Given the description of an element on the screen output the (x, y) to click on. 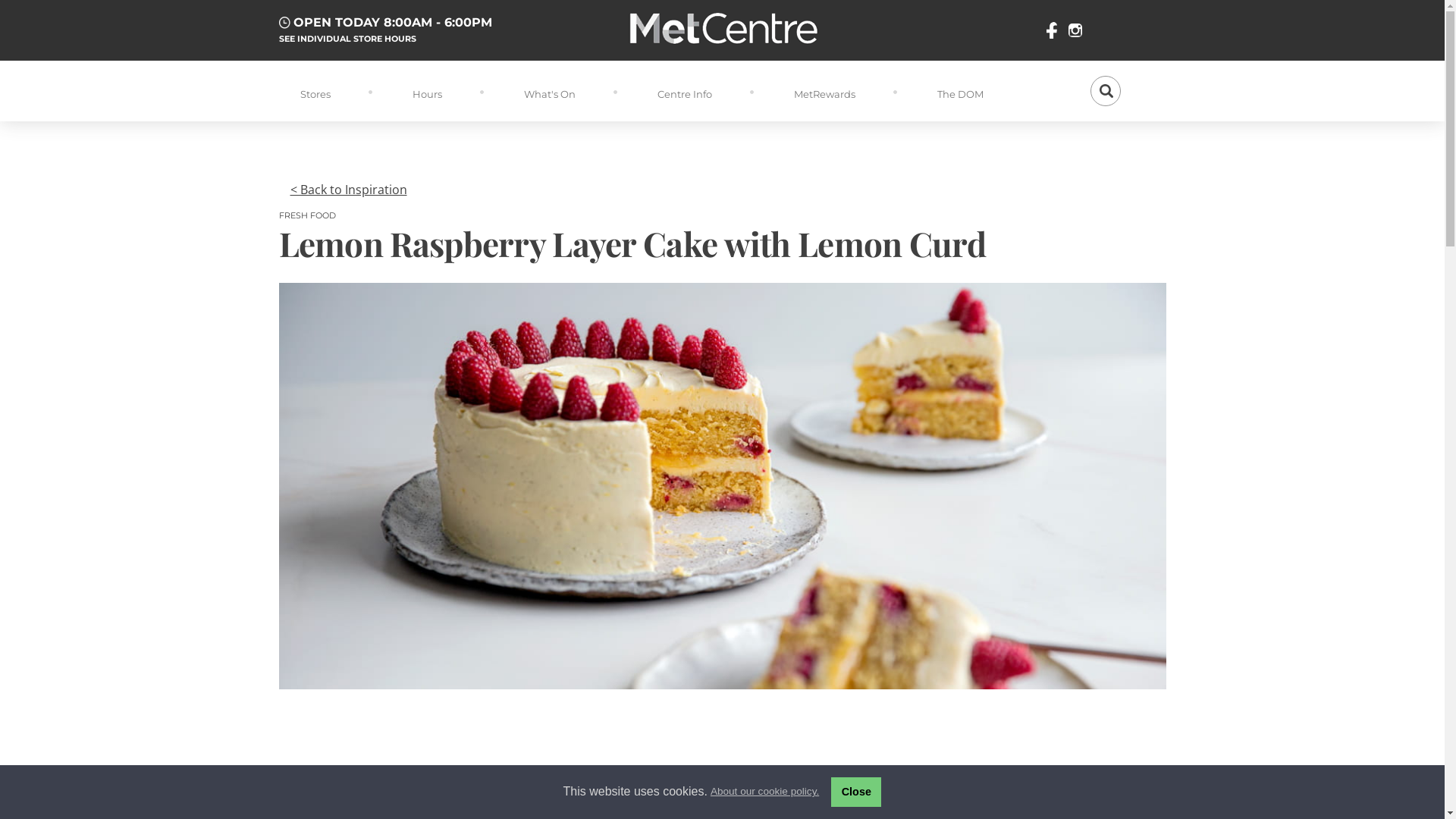
About our cookie policy. Element type: text (763, 791)
Hours Element type: text (427, 90)
What's On Element type: text (548, 90)
OPEN TODAY 8:00AM - 6:00PM Element type: text (385, 21)
SEE INDIVIDUAL STORE HOURS Element type: text (347, 38)
The DOM Element type: text (960, 90)
Centre Info Element type: text (683, 90)
MetCentre Element type: hover (721, 28)
Stores Element type: text (315, 90)
MetRewards Element type: text (823, 90)
< Back to Inspiration Element type: text (347, 189)
Close Element type: text (856, 791)
